Given the description of an element on the screen output the (x, y) to click on. 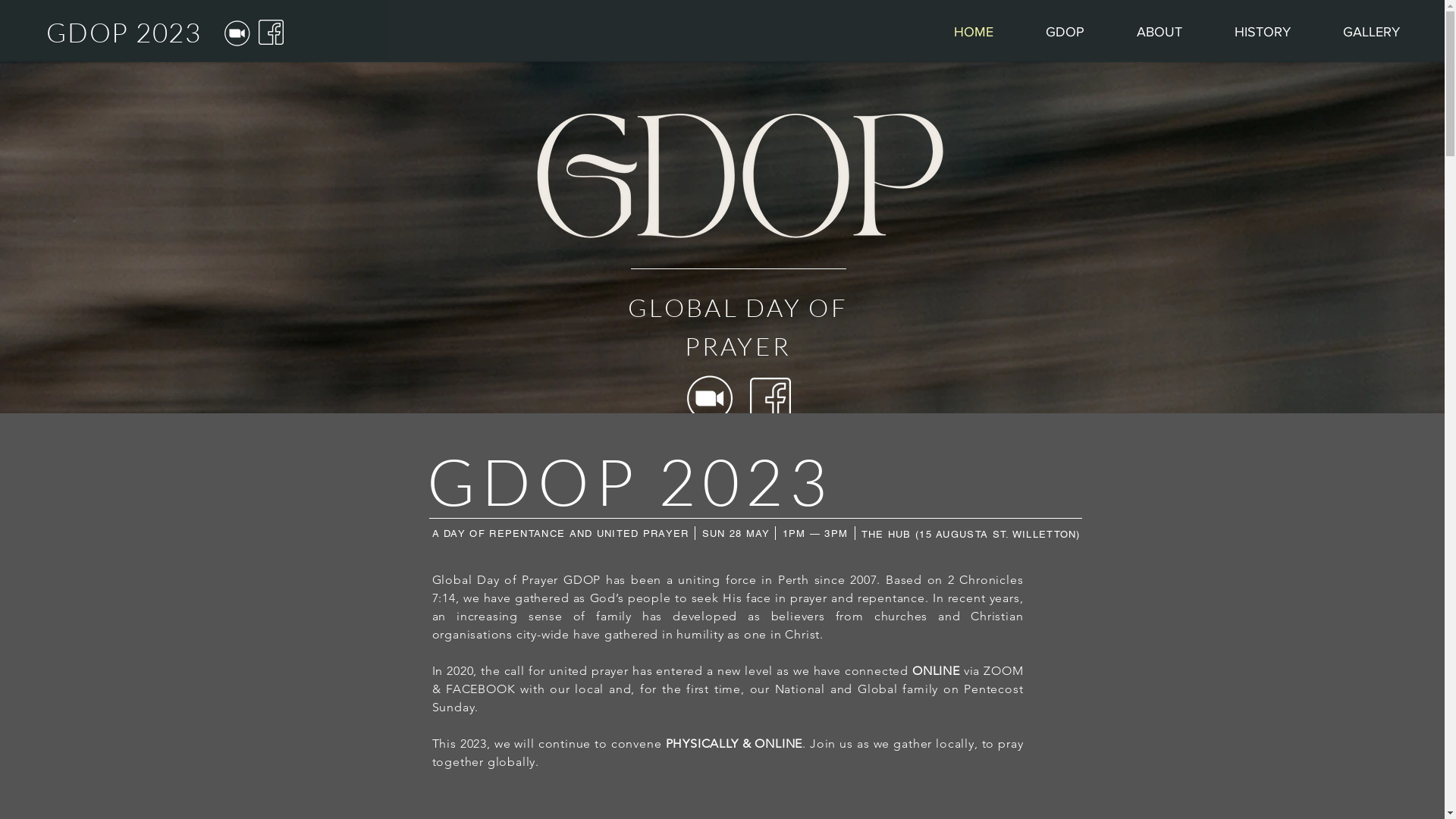
HOME Element type: text (973, 31)
GDOP 2023 Element type: text (123, 31)
GALLERY Element type: text (1370, 31)
ABOUT Element type: text (1159, 31)
GDOP Element type: text (1064, 31)
HISTORY Element type: text (1262, 31)
